Given the description of an element on the screen output the (x, y) to click on. 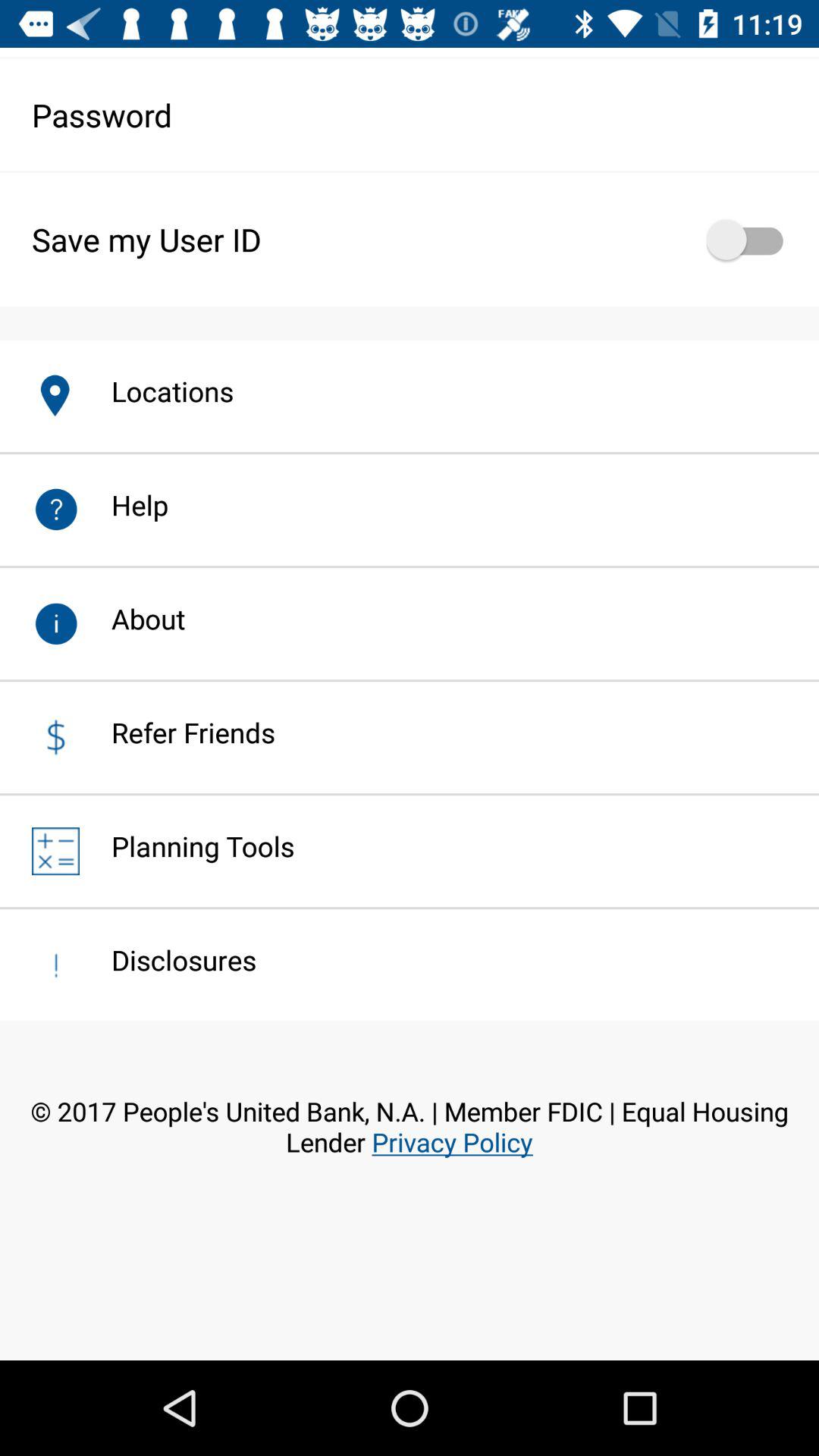
tap item above the 2017 people s app (167, 959)
